Given the description of an element on the screen output the (x, y) to click on. 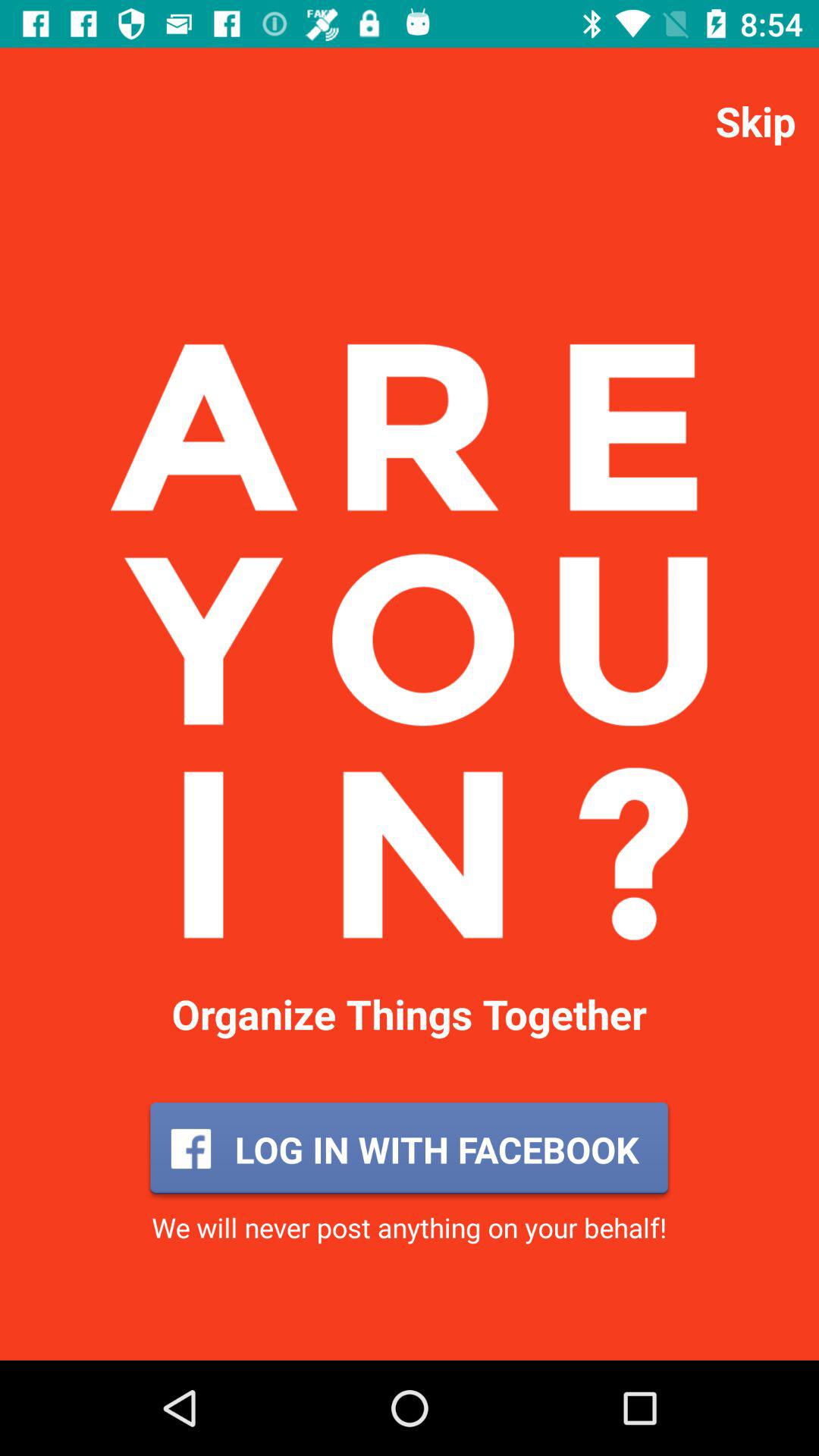
turn off the icon below organize things together icon (409, 1148)
